Given the description of an element on the screen output the (x, y) to click on. 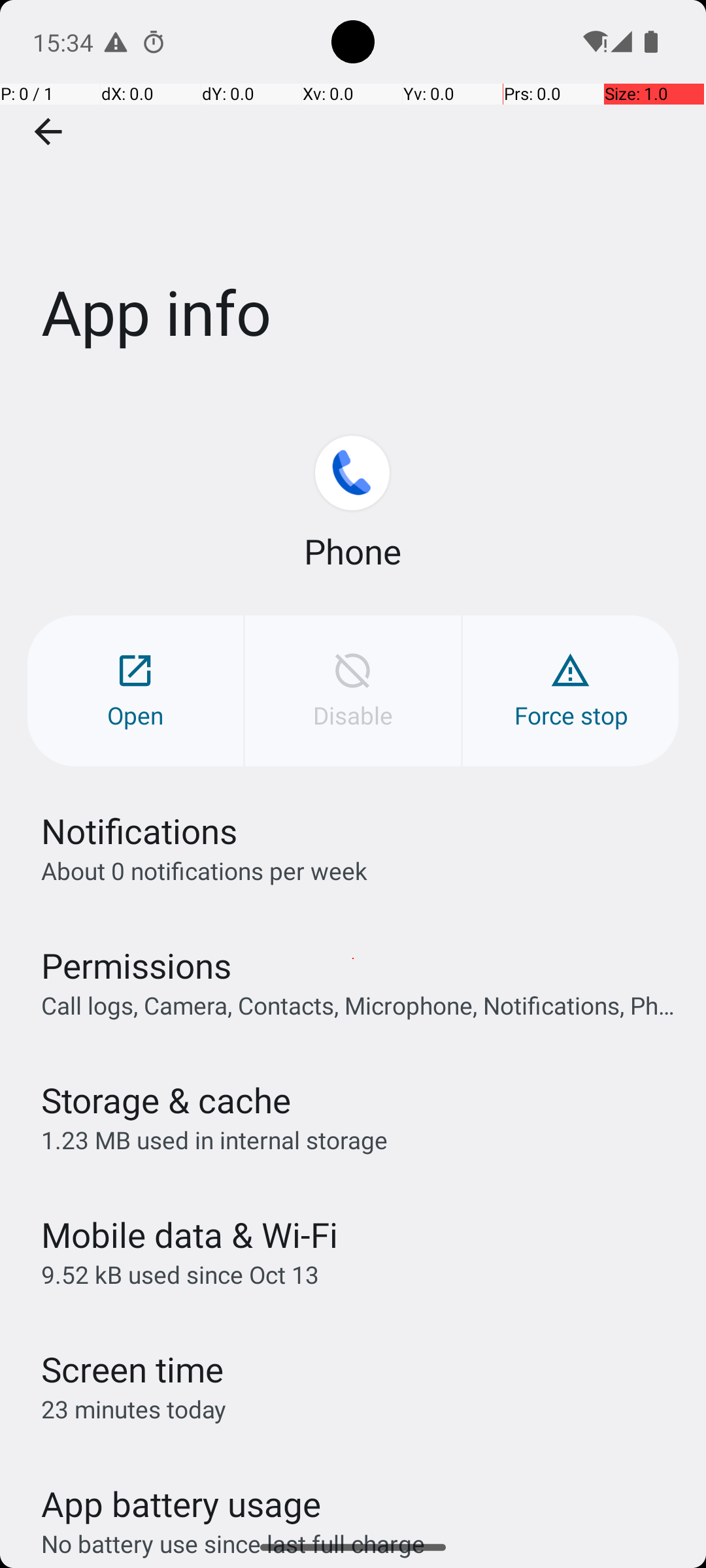
App info Element type: android.widget.FrameLayout (353, 195)
Open Element type: android.widget.Button (135, 690)
Disable Element type: android.widget.Button (352, 690)
Force stop Element type: android.widget.Button (570, 690)
Notifications Element type: android.widget.TextView (139, 830)
About 0 notifications per week Element type: android.widget.TextView (204, 870)
Permissions Element type: android.widget.TextView (136, 965)
Call logs, Camera, Contacts, Microphone, Notifications, Phone, and SMS Element type: android.widget.TextView (359, 1004)
Storage & cache Element type: android.widget.TextView (166, 1099)
1.23 MB used in internal storage Element type: android.widget.TextView (214, 1139)
Mobile data & Wi‑Fi Element type: android.widget.TextView (189, 1234)
9.52 kB used since Oct 13 Element type: android.widget.TextView (180, 1273)
Screen time Element type: android.widget.TextView (132, 1368)
23 minutes today Element type: android.widget.TextView (133, 1408)
App battery usage Element type: android.widget.TextView (181, 1503)
Android System notification:  Element type: android.widget.ImageView (115, 41)
